Given the description of an element on the screen output the (x, y) to click on. 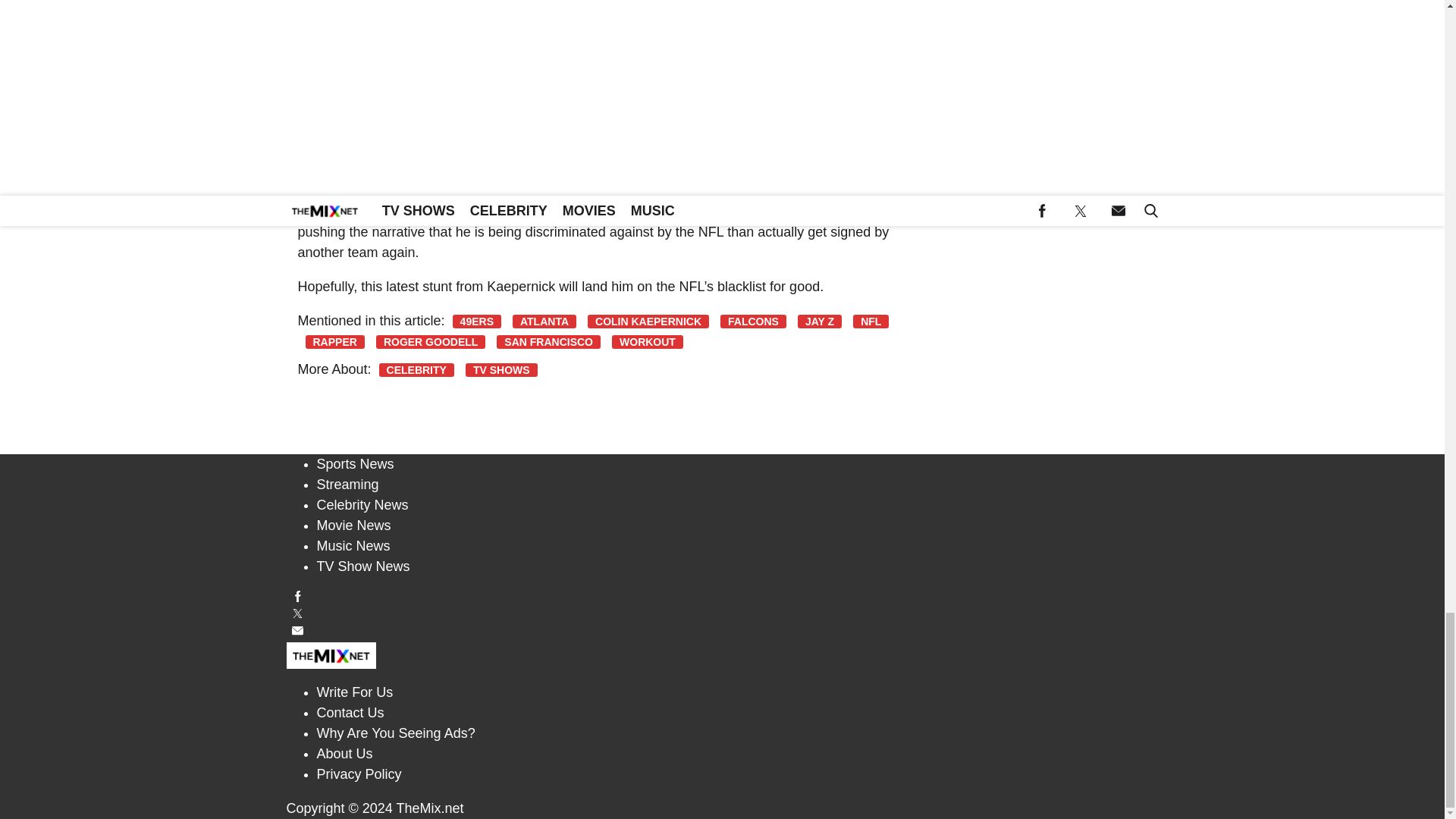
to protest against racial inequality (443, 61)
Follow us on Facebook (722, 595)
Sports News (355, 463)
49ERS (476, 321)
WORKOUT (646, 341)
Follow us on Twitter (722, 613)
FALCONS (753, 321)
COLIN KAEPERNICK (648, 321)
NFL (870, 321)
CELEBRITY (416, 369)
